Given the description of an element on the screen output the (x, y) to click on. 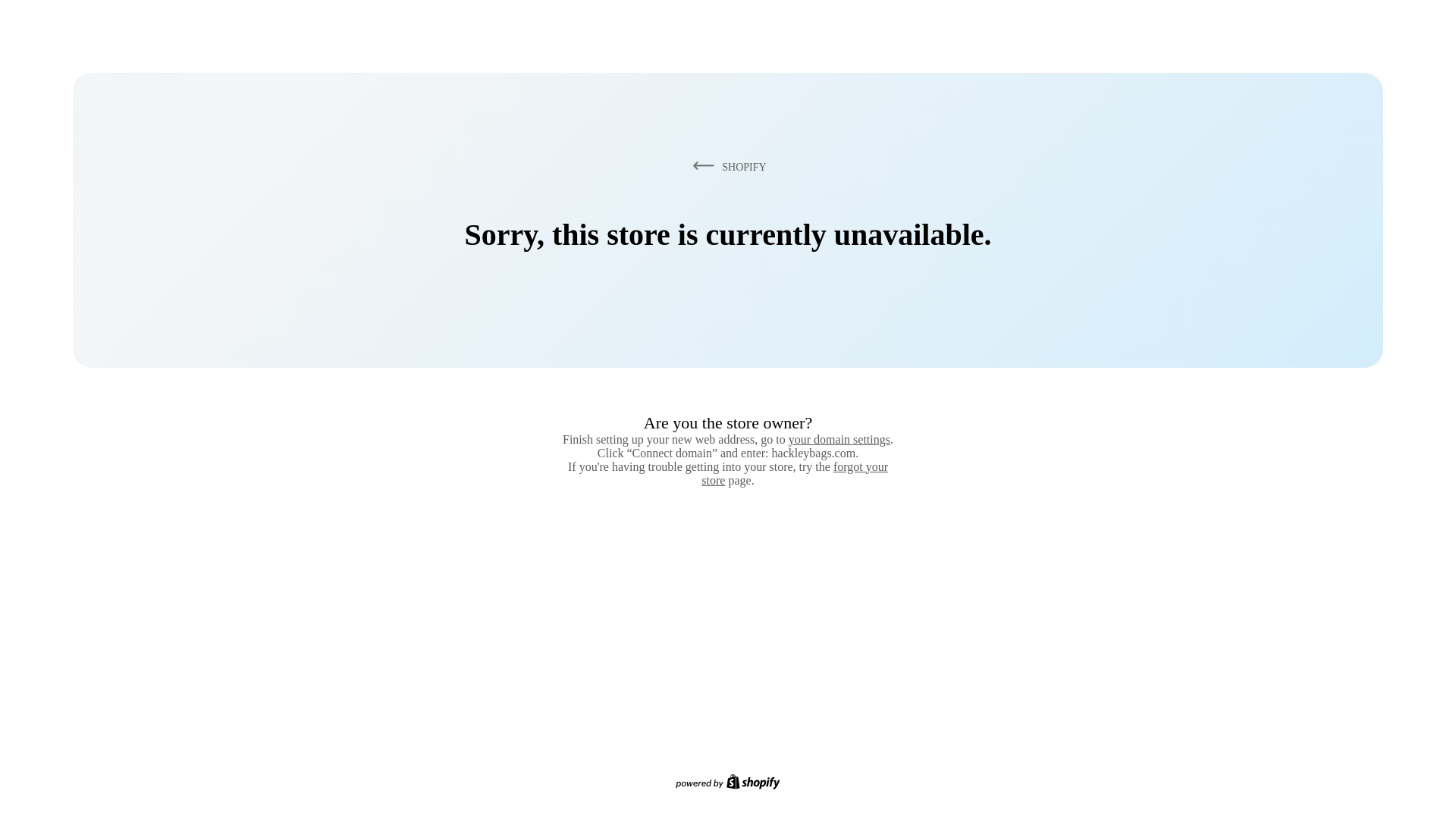
forgot your store (794, 473)
SHOPIFY (726, 166)
your domain settings (839, 439)
